Given the description of an element on the screen output the (x, y) to click on. 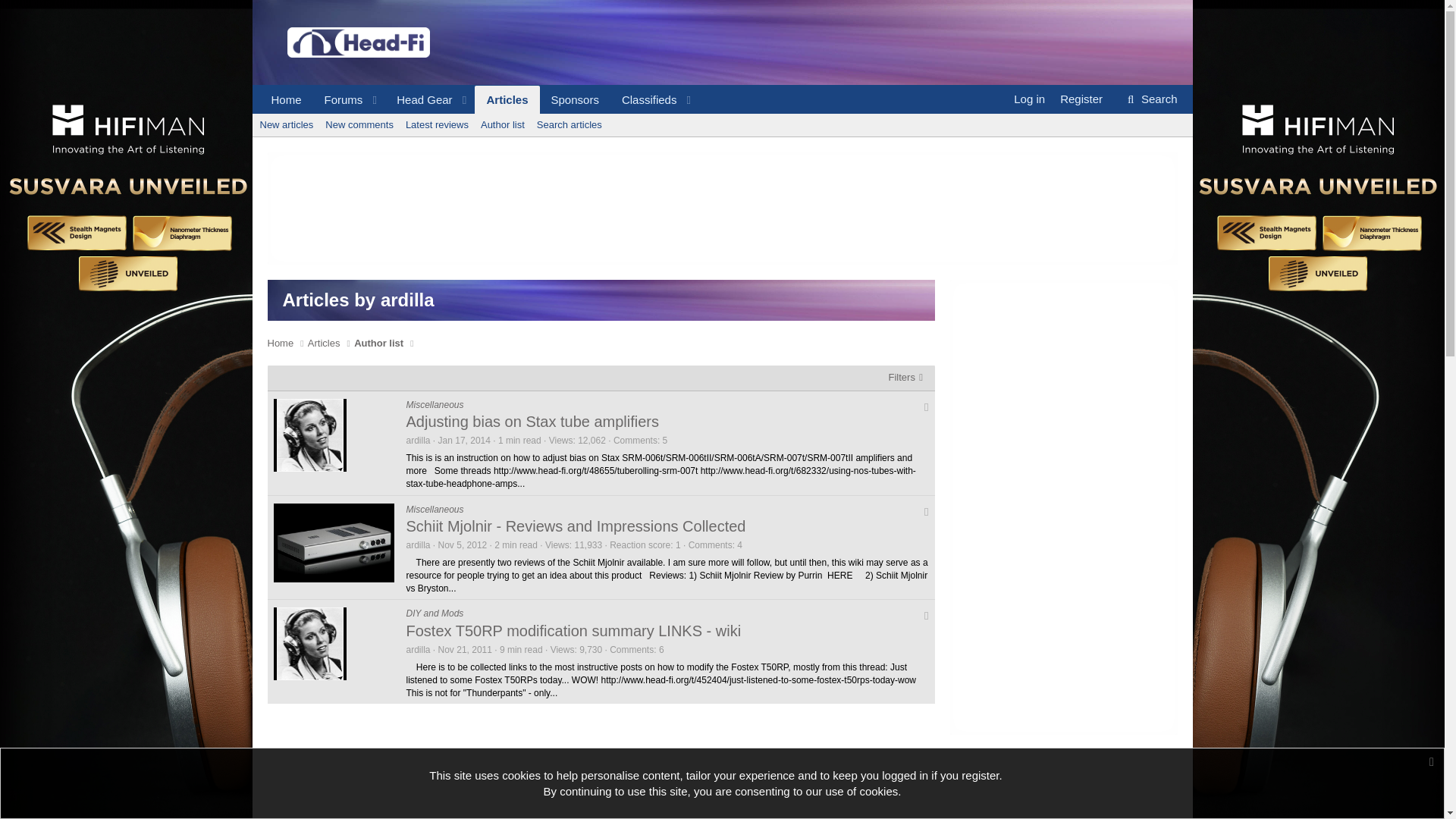
Articles (506, 99)
Forums (339, 99)
Sponsors (575, 99)
Head Gear (418, 99)
Nov 21, 2011 at 11:36 AM (465, 649)
Latest reviews (436, 124)
Nov 5, 2012 at 4:37 PM (462, 544)
